Given the description of an element on the screen output the (x, y) to click on. 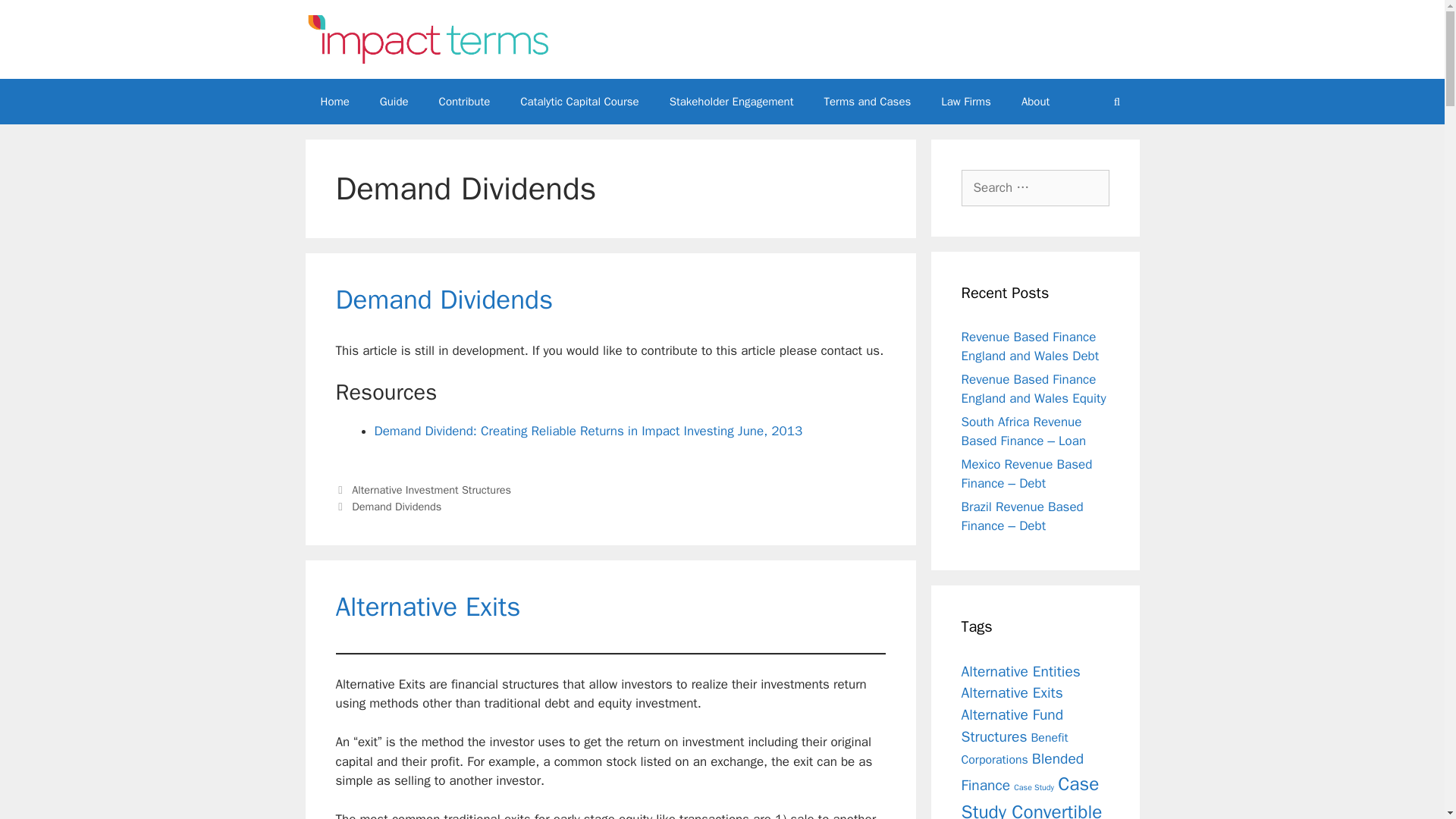
Catalytic Capital Course (579, 101)
About (1035, 101)
Search for: (1034, 187)
Demand Dividends (443, 299)
Contribute (464, 101)
Law Firms (966, 101)
Stakeholder Engagement (731, 101)
Home (334, 101)
Terms and Cases (867, 101)
Demand Dividends (396, 506)
